Given the description of an element on the screen output the (x, y) to click on. 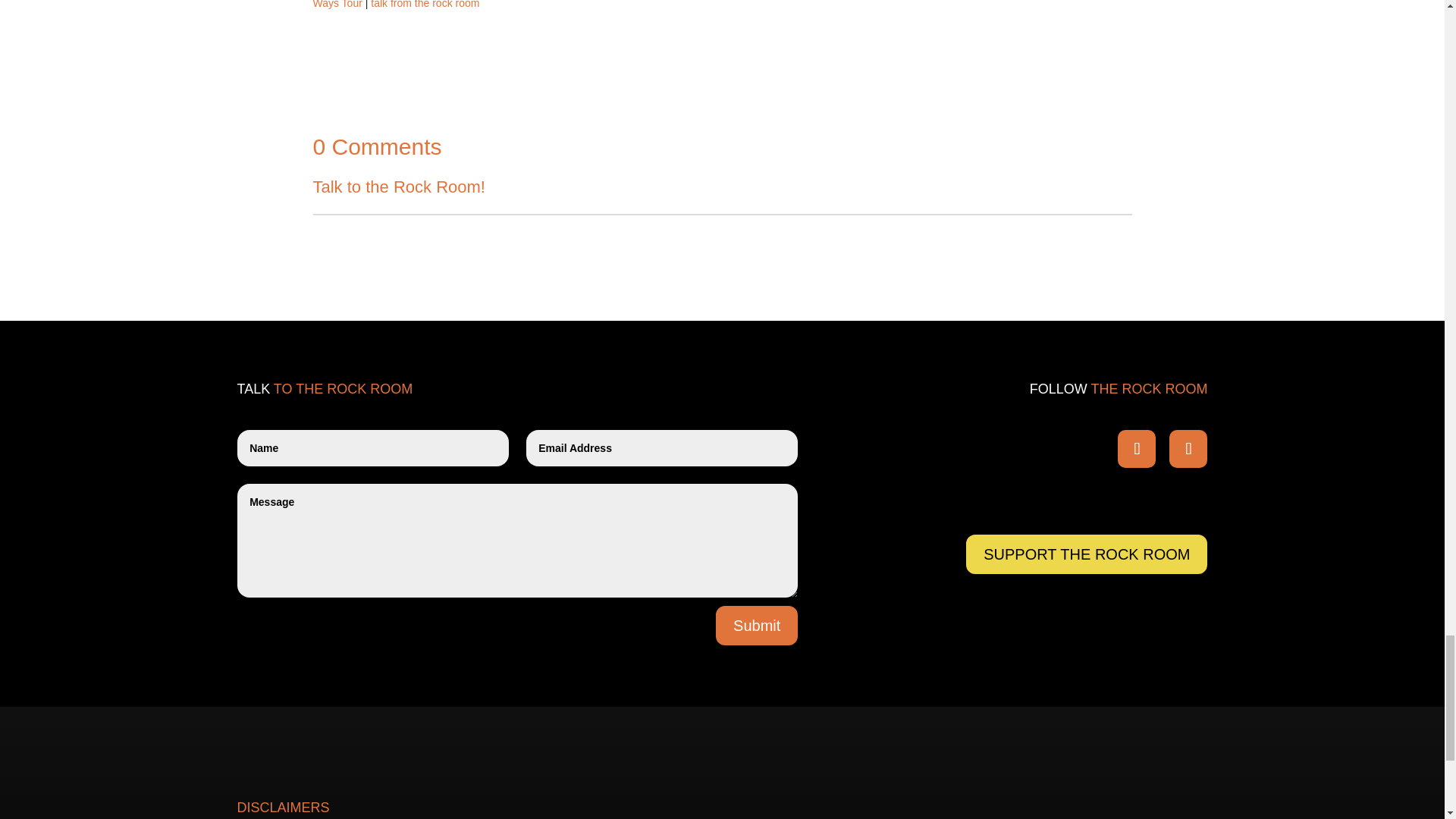
talk from the rock room (425, 4)
Rough and Rowdy Ways Tour (710, 4)
Submit (756, 625)
Follow on Facebook (1137, 448)
SUPPORT THE ROCK ROOM (1086, 554)
Follow on Instagram (1188, 448)
